Given the description of an element on the screen output the (x, y) to click on. 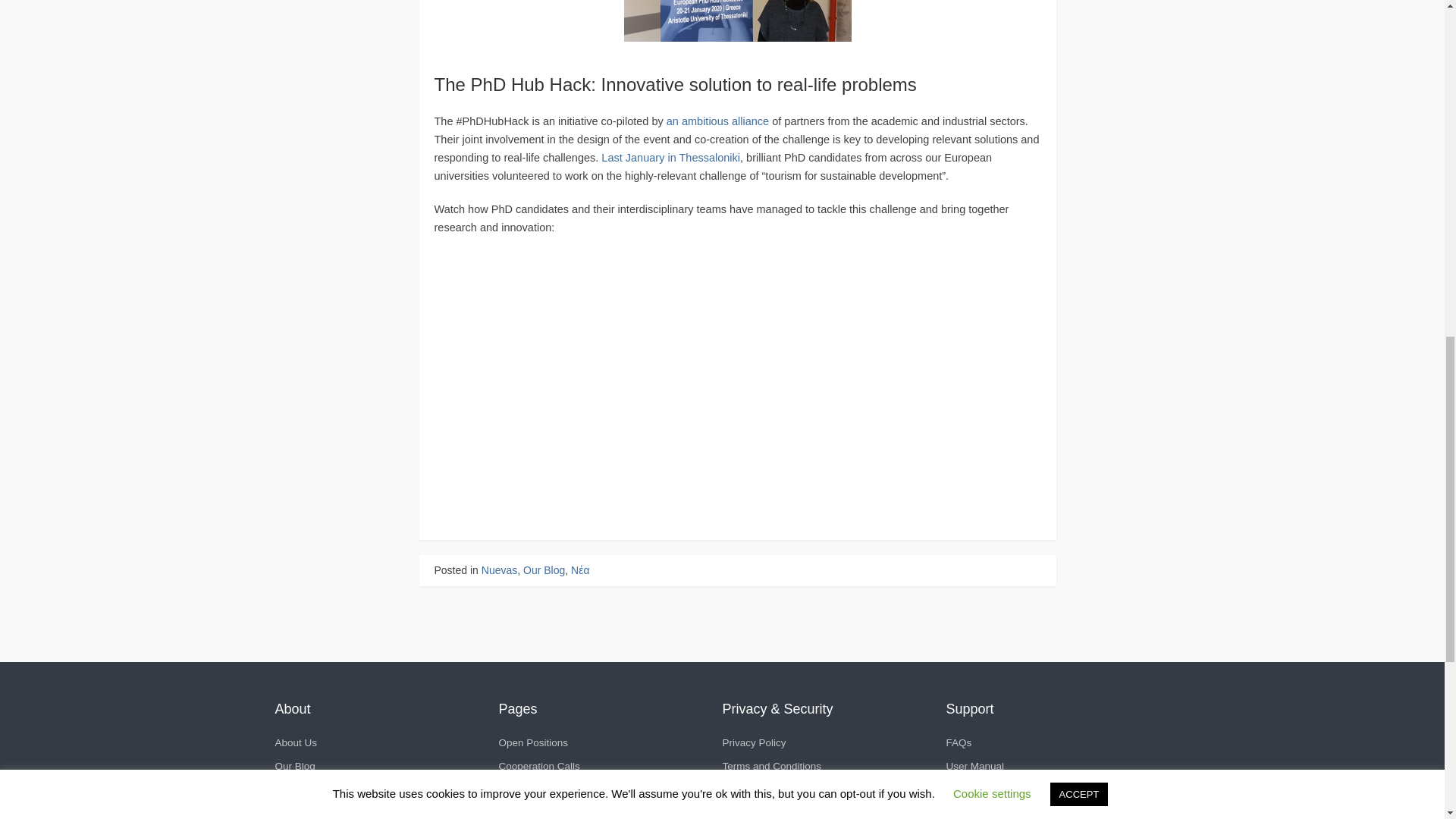
Our Blog (543, 570)
Useful Tips (524, 812)
Open Positions (534, 742)
Resource Center (313, 812)
Last January in Thessaloniki (670, 157)
Cooperation Calls (539, 766)
About Us (296, 742)
Our Blog (294, 766)
Nuevas (498, 570)
an ambitious alliance (717, 121)
